Given the description of an element on the screen output the (x, y) to click on. 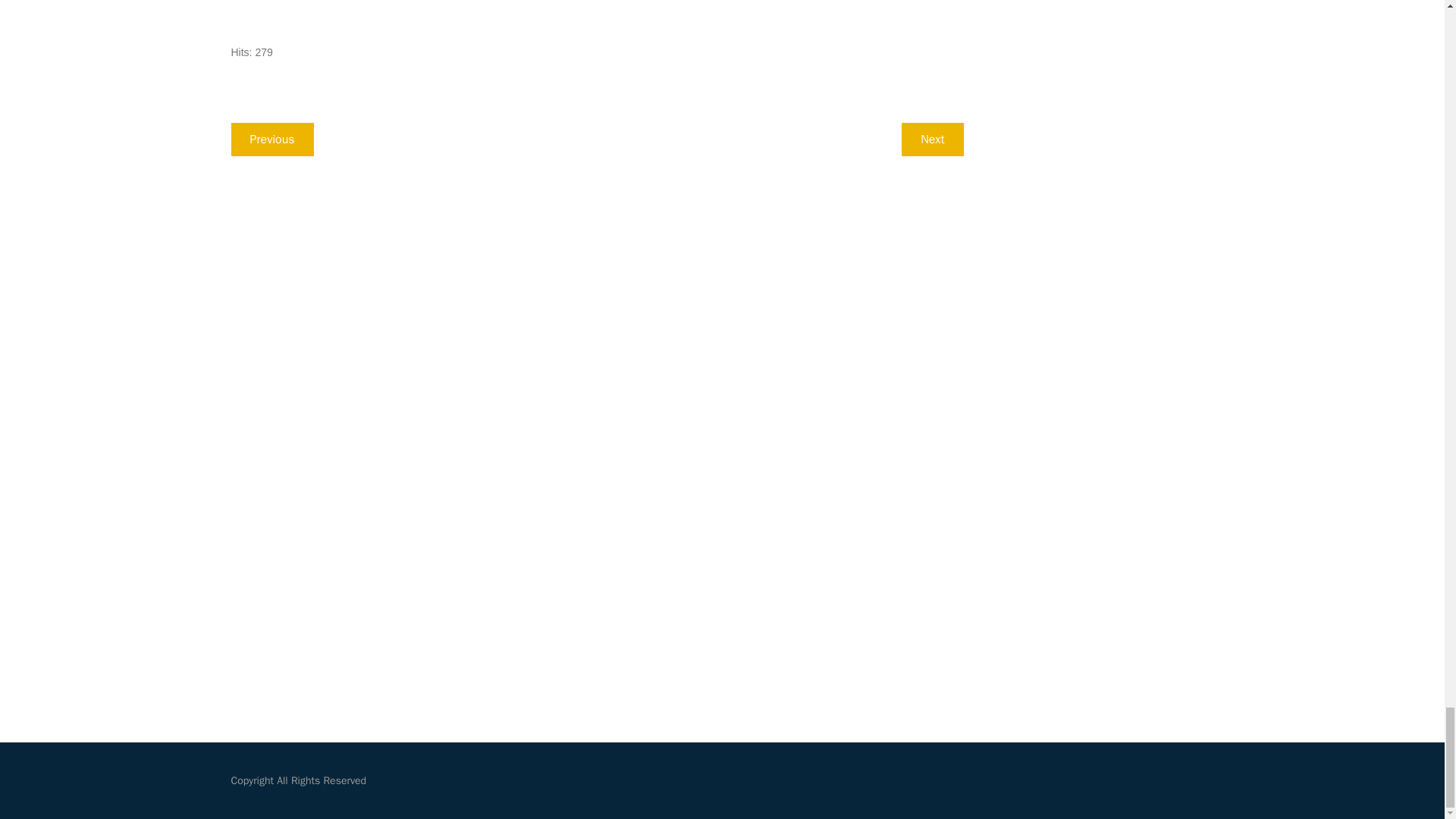
Post Comment (281, 661)
